Given the description of an element on the screen output the (x, y) to click on. 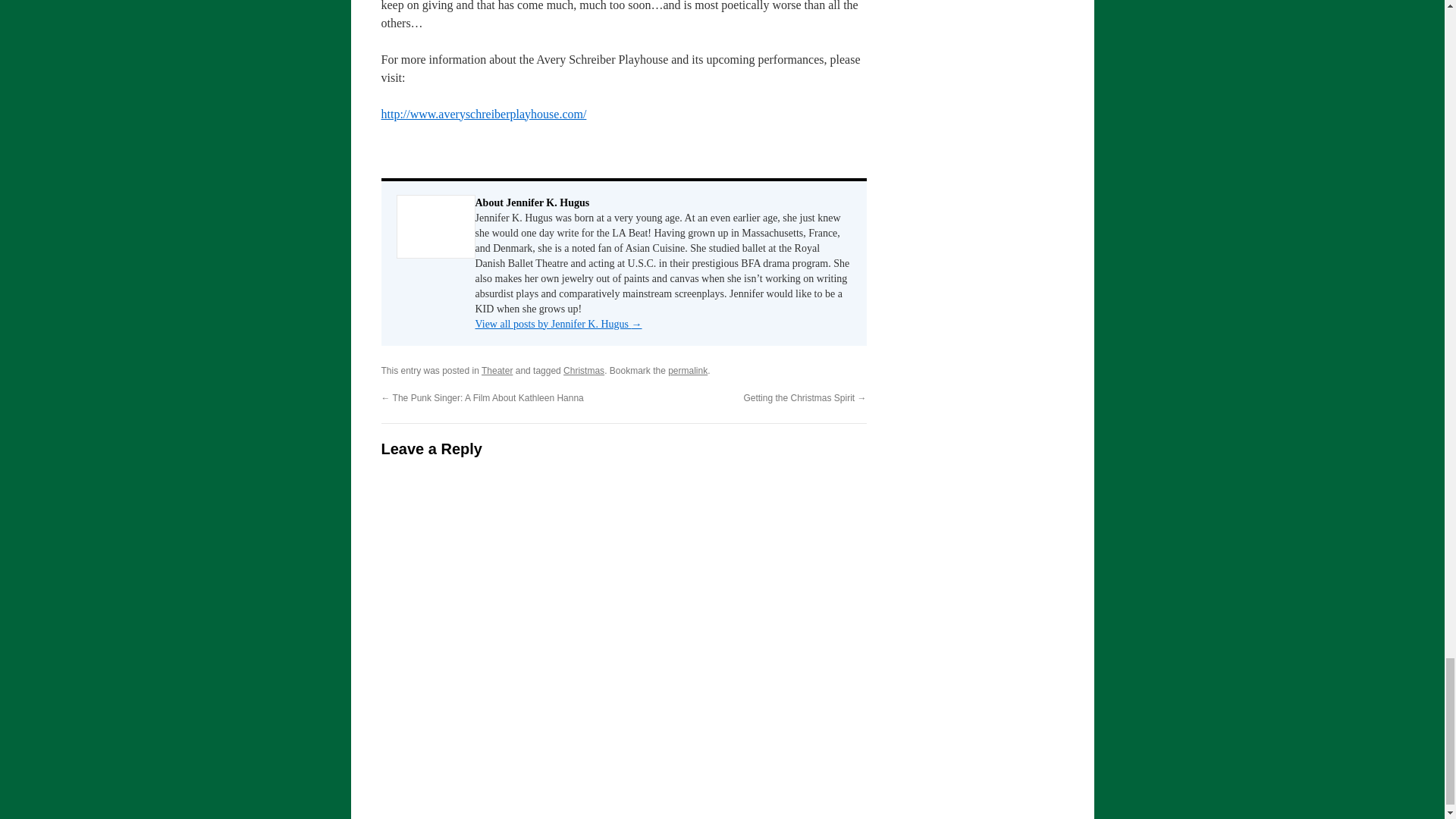
Theater (496, 370)
permalink (687, 370)
Christmas (583, 370)
